Given the description of an element on the screen output the (x, y) to click on. 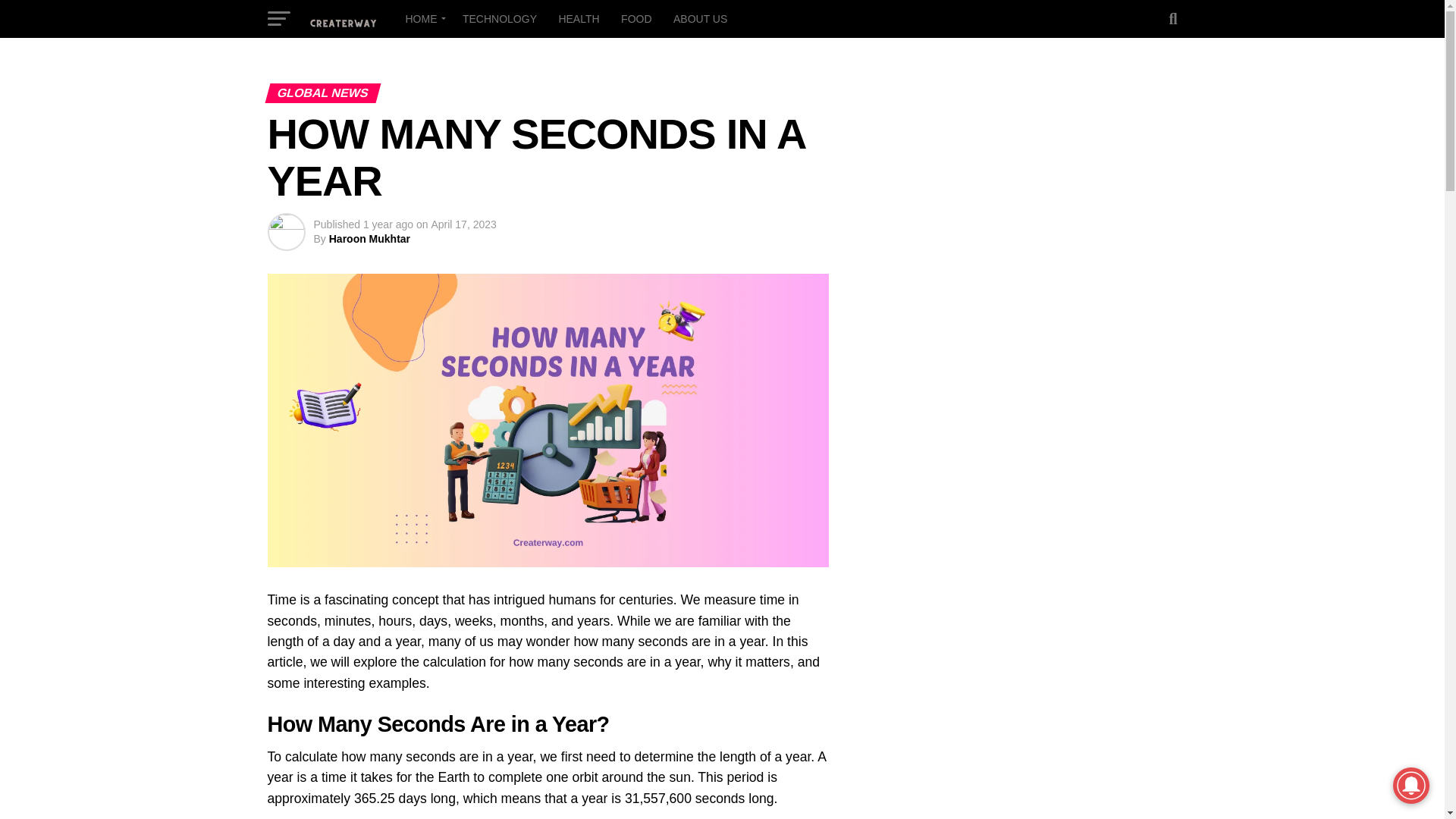
HOME (422, 18)
